Given the description of an element on the screen output the (x, y) to click on. 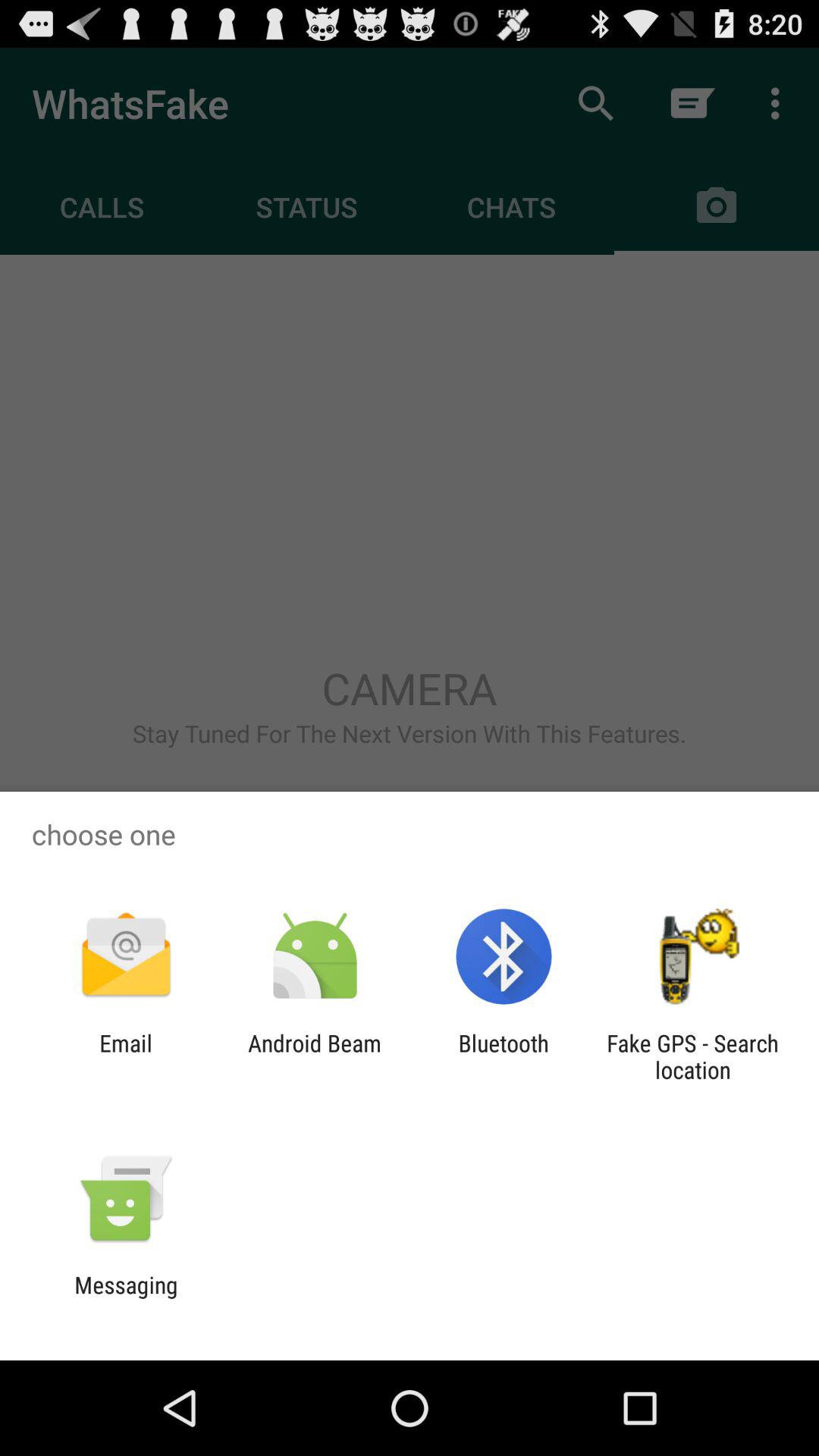
press the item next to android beam icon (503, 1056)
